Given the description of an element on the screen output the (x, y) to click on. 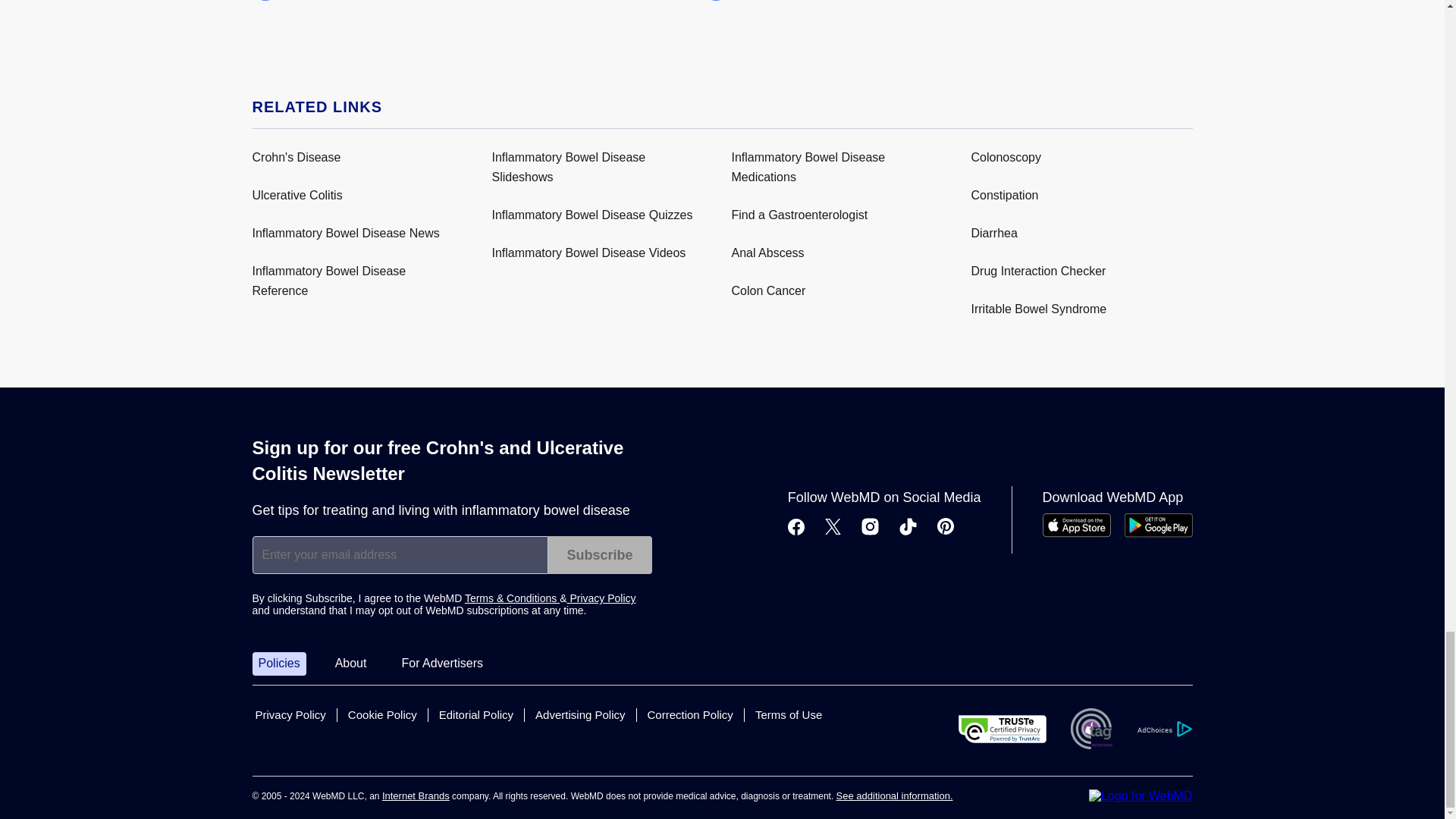
WebMD: Better information. Better health. (1140, 796)
Adchoices (1163, 729)
TRUSTe Privacy Certification (1002, 728)
TAG Registered Seal (1091, 728)
